Given the description of an element on the screen output the (x, y) to click on. 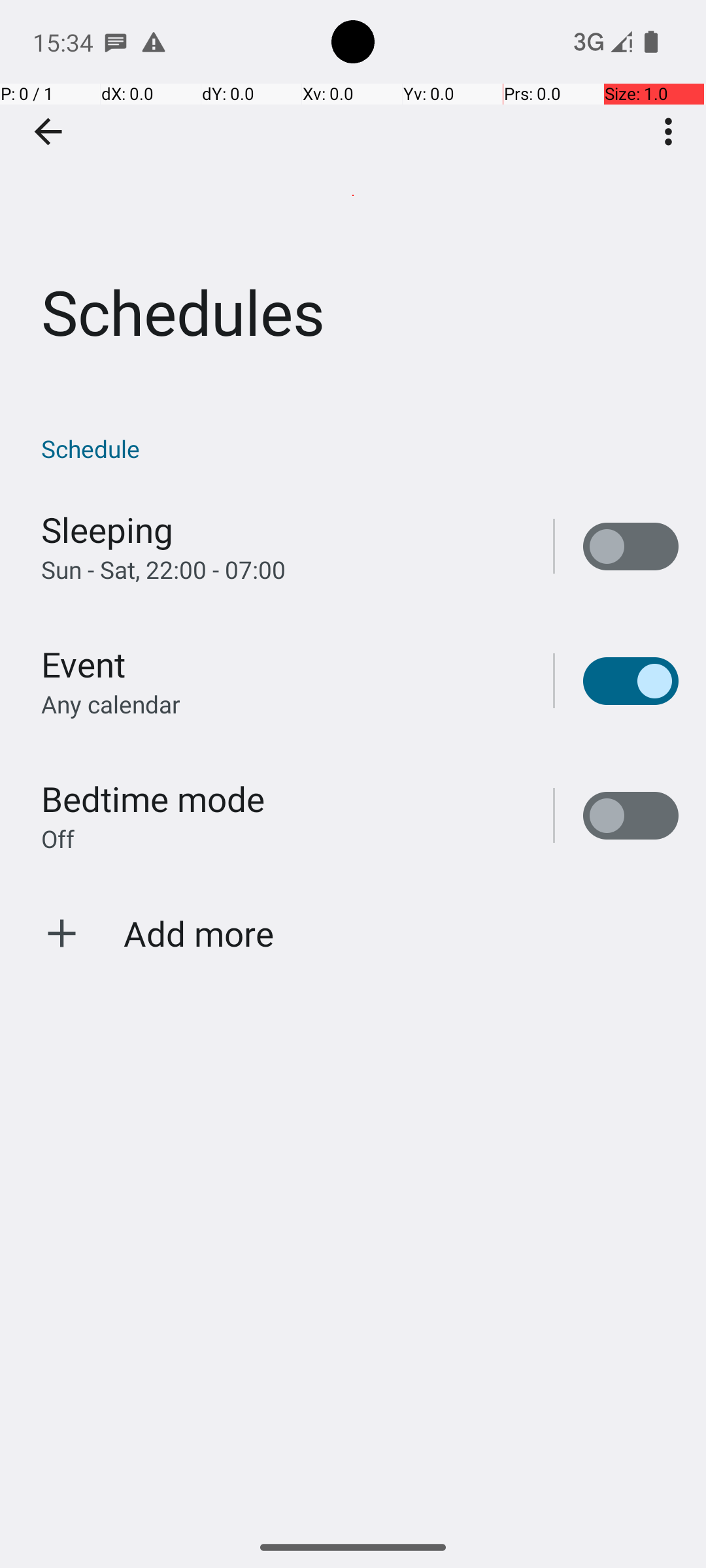
Schedules Element type: android.widget.FrameLayout (353, 195)
Schedule Element type: android.widget.TextView (359, 448)
Sleeping Element type: android.widget.TextView (107, 529)
Sun - Sat, 22:00 - 07:00 Element type: android.widget.TextView (163, 569)
Any calendar Element type: android.widget.TextView (110, 703)
Bedtime mode Element type: android.widget.TextView (152, 798)
Add more Element type: android.widget.TextView (198, 933)
